Given the description of an element on the screen output the (x, y) to click on. 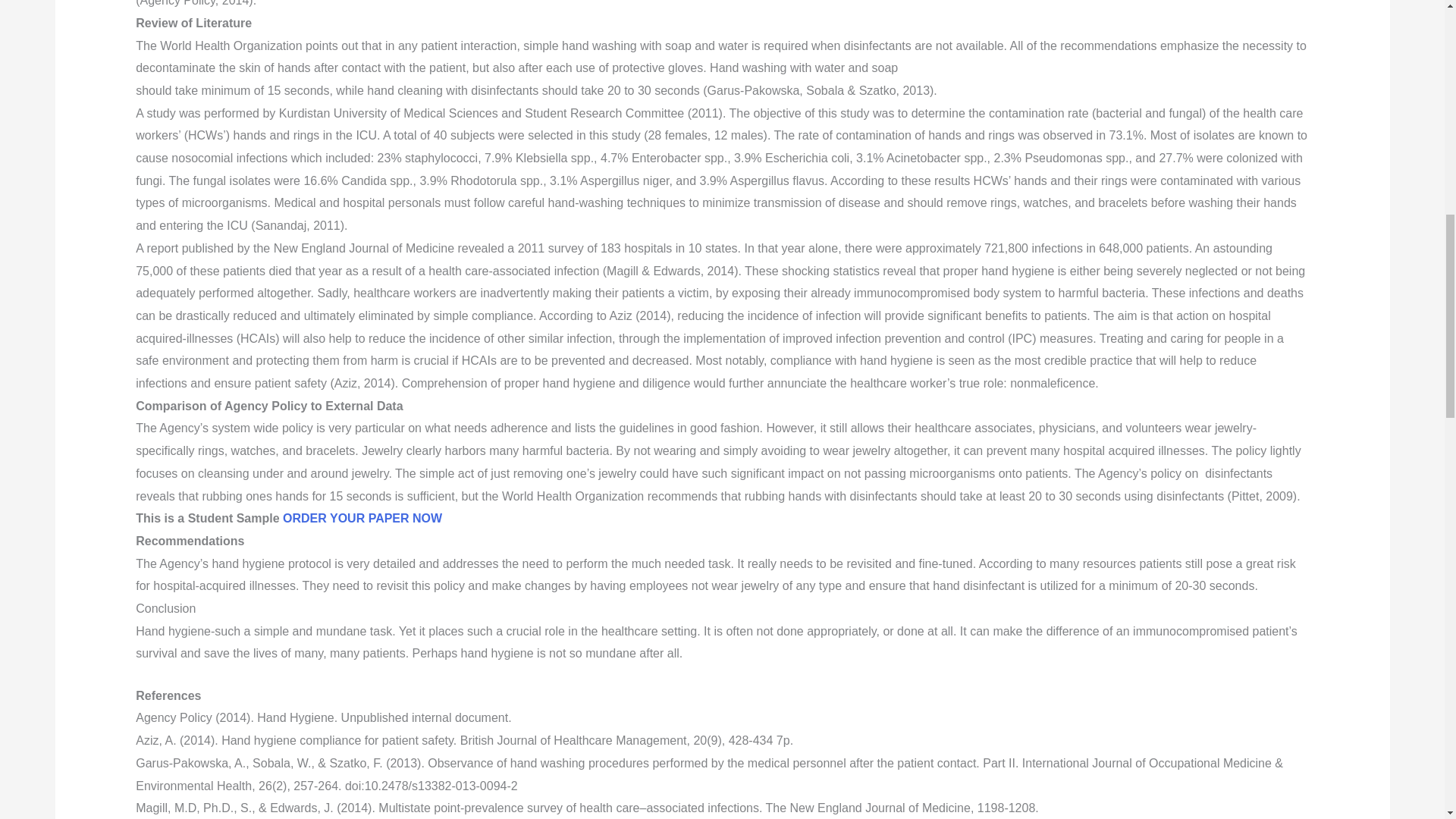
ORDER YOUR PAPER NOW (362, 517)
